Given the description of an element on the screen output the (x, y) to click on. 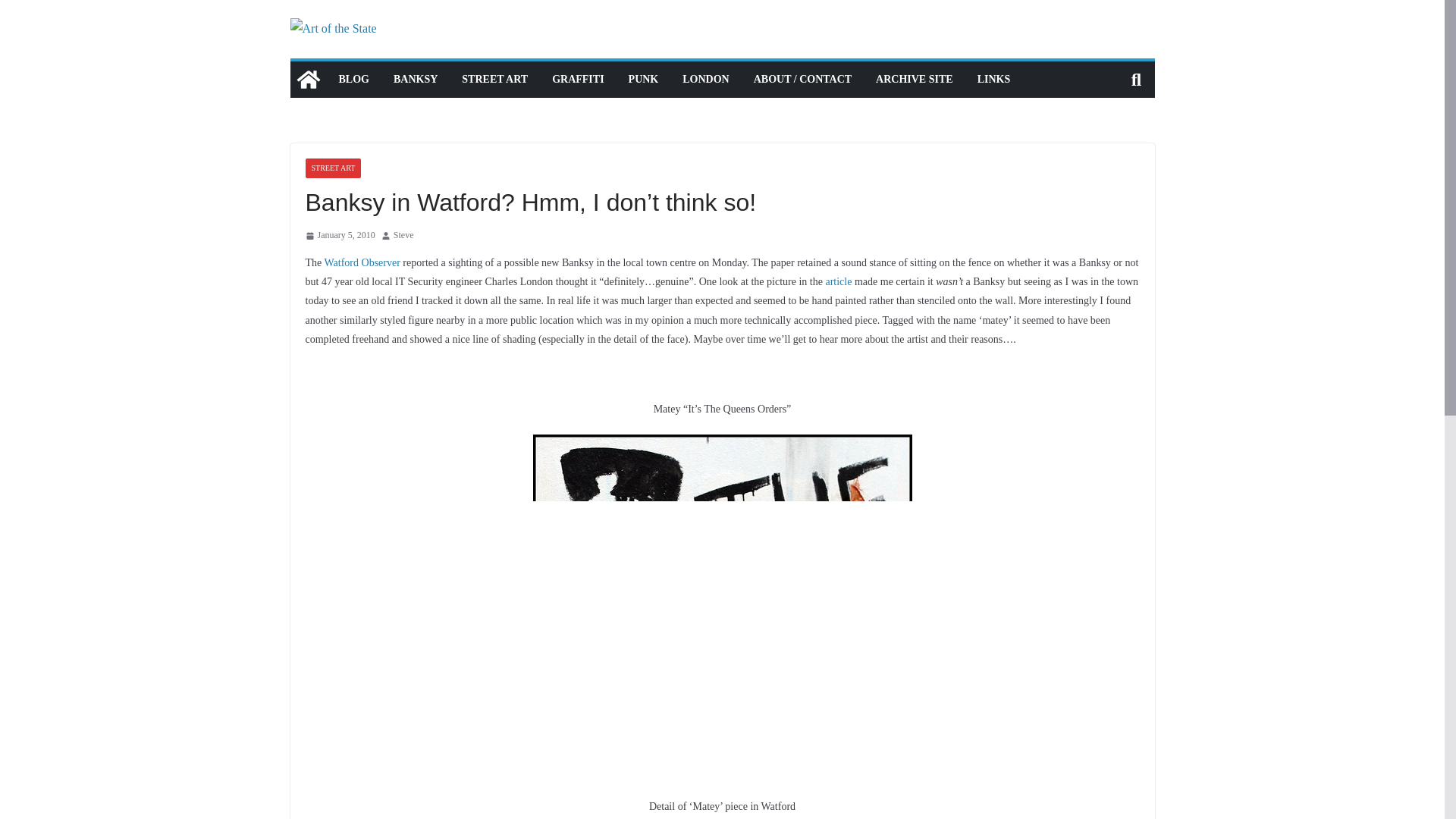
STREET ART (494, 79)
Steve (403, 235)
BLOG (352, 79)
ARCHIVE SITE (914, 79)
9:47 pm (339, 235)
Art of the State (307, 79)
BANKSY (415, 79)
LINKS (993, 79)
PUNK (643, 79)
Art Of The State (914, 79)
GRAFFITI (577, 79)
January 5, 2010 (339, 235)
LONDON (705, 79)
Watford Observer (362, 262)
STREET ART (332, 168)
